Given the description of an element on the screen output the (x, y) to click on. 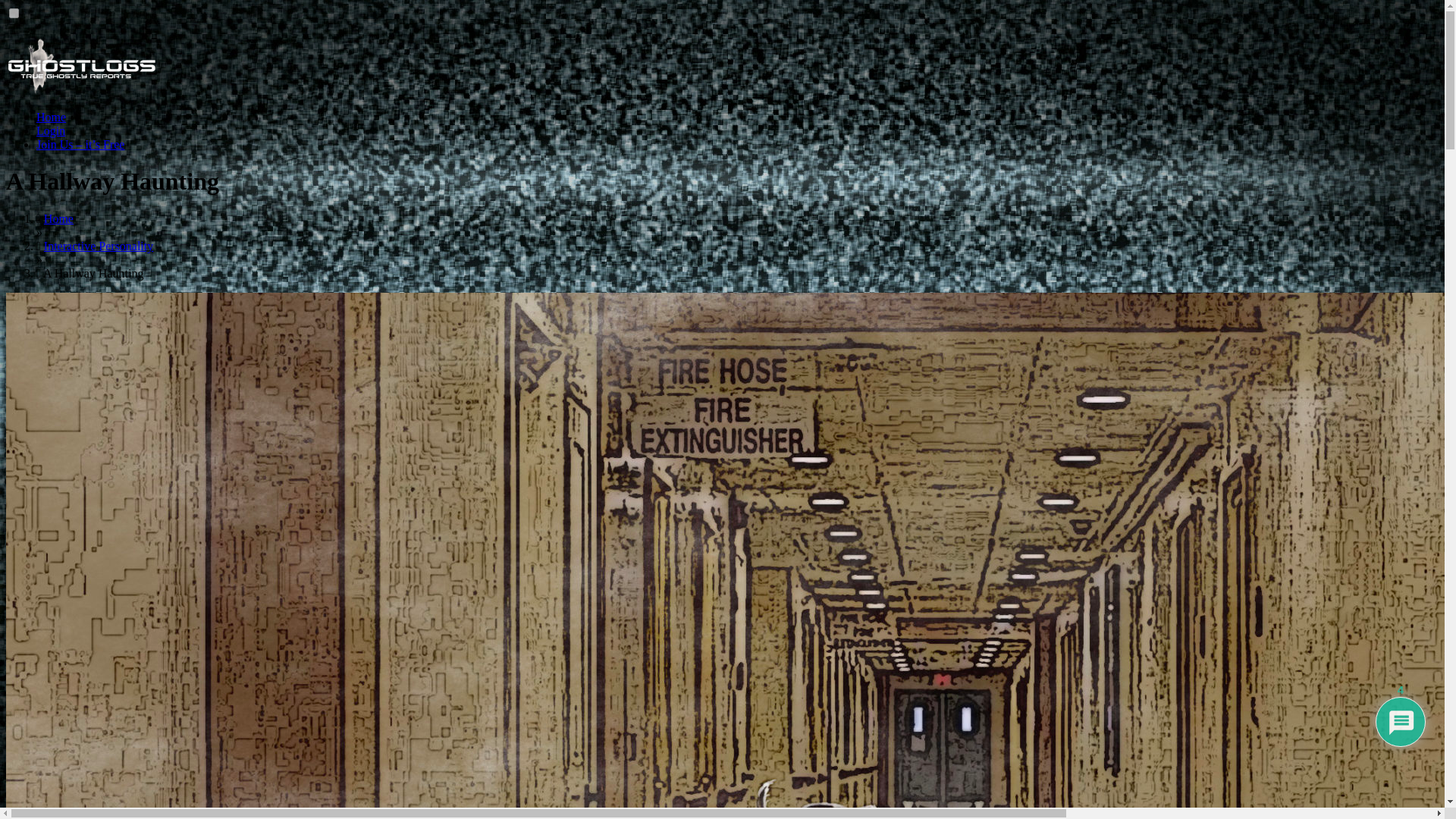
Login (50, 130)
Home (58, 218)
Home (50, 116)
Interactive Personality (97, 245)
on (13, 13)
